Given the description of an element on the screen output the (x, y) to click on. 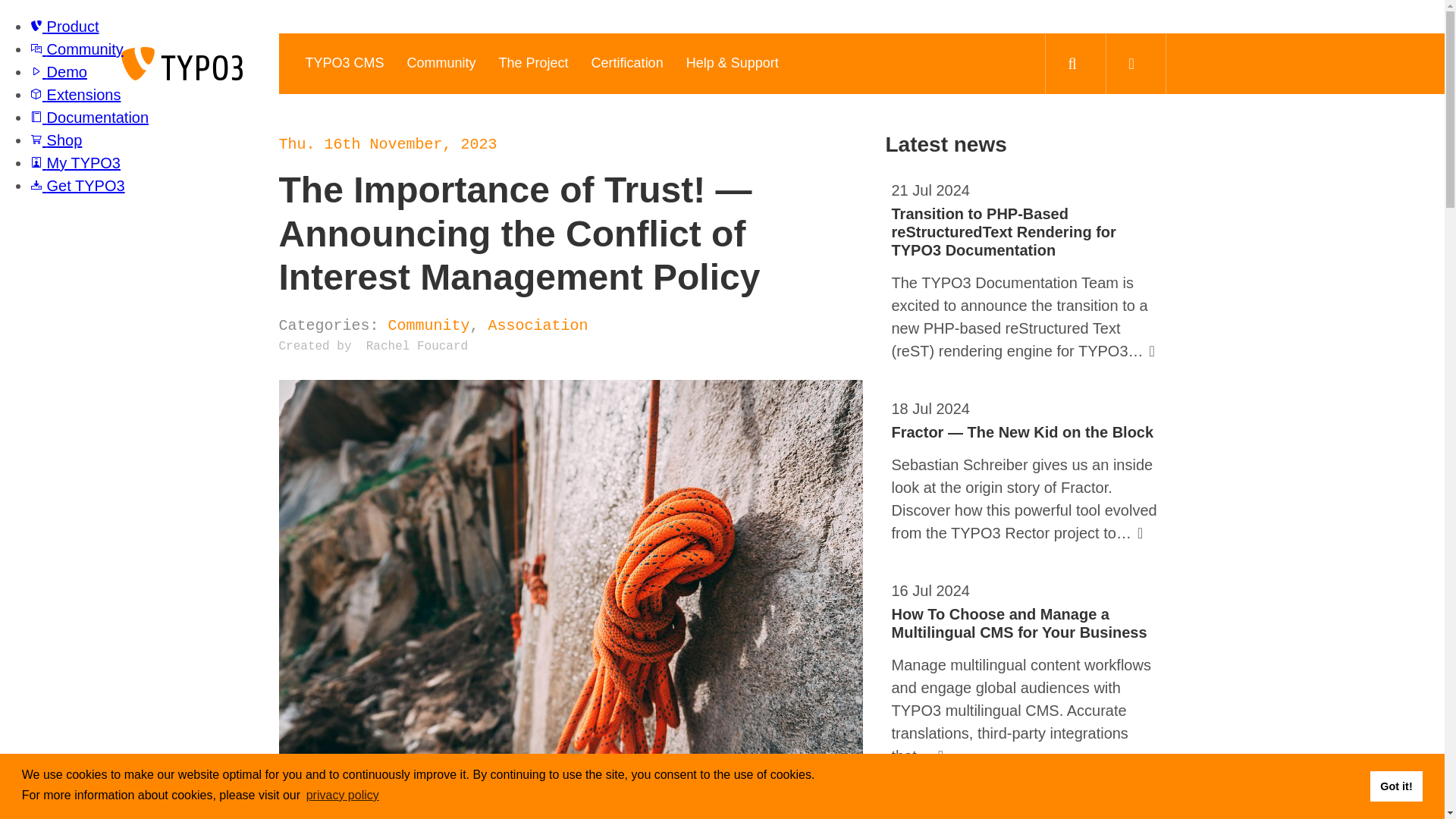
Got it! (1396, 786)
Go to the start page (181, 63)
privacy policy (342, 794)
Open menu for TYPO3 CMS (345, 63)
Community (441, 63)
TYPO3 CMS (345, 63)
Open menu for Community (441, 63)
